Given the description of an element on the screen output the (x, y) to click on. 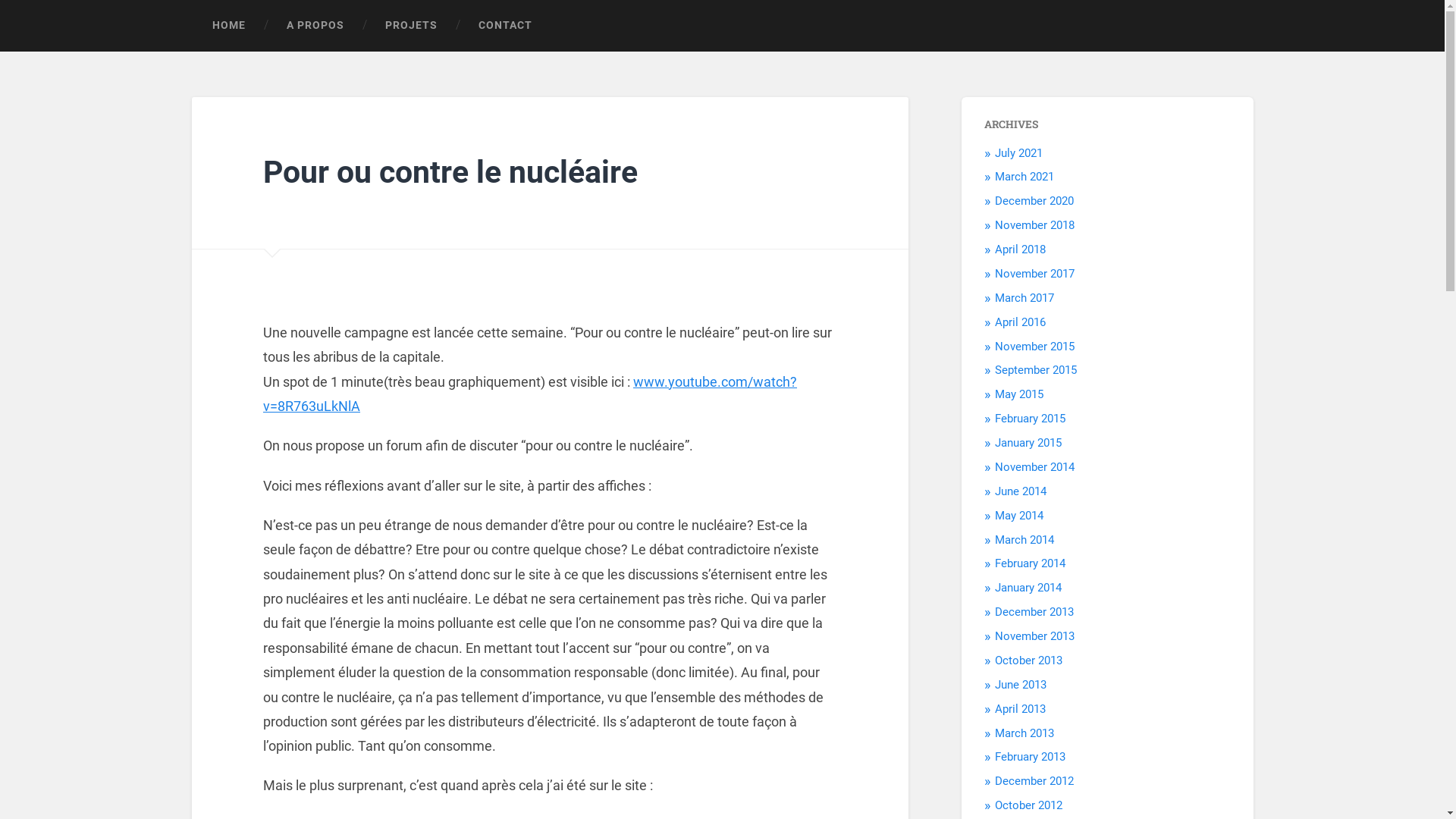
November 2013 Element type: text (1034, 636)
PROJETS Element type: text (410, 25)
June 2013 Element type: text (1020, 684)
April 2013 Element type: text (1019, 708)
December 2020 Element type: text (1033, 200)
January 2014 Element type: text (1027, 587)
April 2016 Element type: text (1019, 322)
November 2014 Element type: text (1034, 466)
January 2015 Element type: text (1027, 442)
February 2014 Element type: text (1029, 563)
CONTACT Element type: text (505, 25)
November 2017 Element type: text (1034, 273)
July 2021 Element type: text (1018, 153)
www.youtube.com/watch?v=8R763uLkNlA Element type: text (530, 393)
October 2012 Element type: text (1028, 805)
March 2013 Element type: text (1024, 733)
June 2014 Element type: text (1020, 491)
March 2017 Element type: text (1024, 297)
March 2021 Element type: text (1024, 176)
May 2015 Element type: text (1018, 394)
February 2015 Element type: text (1029, 418)
October 2013 Element type: text (1028, 660)
A PROPOS Element type: text (314, 25)
HOME Element type: text (228, 25)
February 2013 Element type: text (1029, 756)
September 2015 Element type: text (1035, 369)
November 2018 Element type: text (1034, 225)
March 2014 Element type: text (1024, 539)
April 2018 Element type: text (1019, 249)
December 2013 Element type: text (1033, 611)
November 2015 Element type: text (1034, 346)
December 2012 Element type: text (1033, 780)
May 2014 Element type: text (1018, 515)
